Given the description of an element on the screen output the (x, y) to click on. 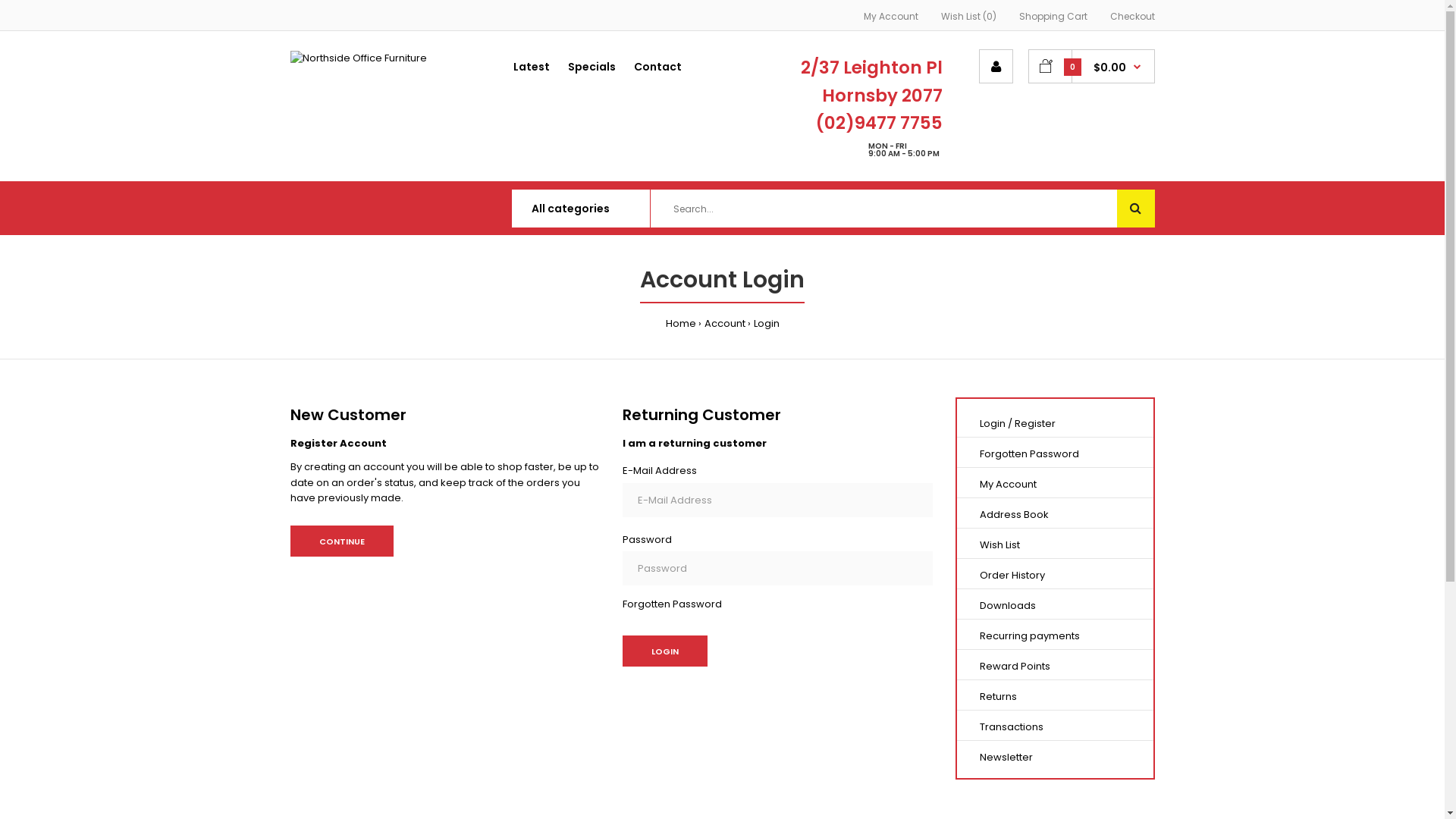
My Account Element type: text (889, 15)
Login Element type: text (766, 323)
Order History Element type: text (1011, 574)
Contact Element type: text (657, 72)
Returns Element type: text (997, 696)
Home Element type: text (680, 323)
Checkout Element type: text (1132, 15)
Northside Office Furniture Element type: hover (357, 58)
Register Element type: text (1034, 423)
Login Element type: text (992, 423)
My Account Element type: text (1007, 483)
Reward Points Element type: text (1014, 665)
Wish List Element type: text (999, 544)
Downloads Element type: text (1007, 605)
Forgotten Password Element type: text (671, 600)
CONTINUE Element type: text (340, 540)
Account Element type: text (723, 323)
0
$0.00 Element type: text (1091, 66)
Latest Element type: text (531, 72)
Specials Element type: text (591, 72)
Newsletter Element type: text (1005, 756)
Address Book Element type: text (1013, 514)
Recurring payments Element type: text (1029, 635)
Wish List (0) Element type: text (967, 15)
Transactions Element type: text (1011, 726)
Login Element type: text (664, 650)
Shopping Cart Element type: text (1053, 15)
Forgotten Password Element type: text (1029, 453)
